Given the description of an element on the screen output the (x, y) to click on. 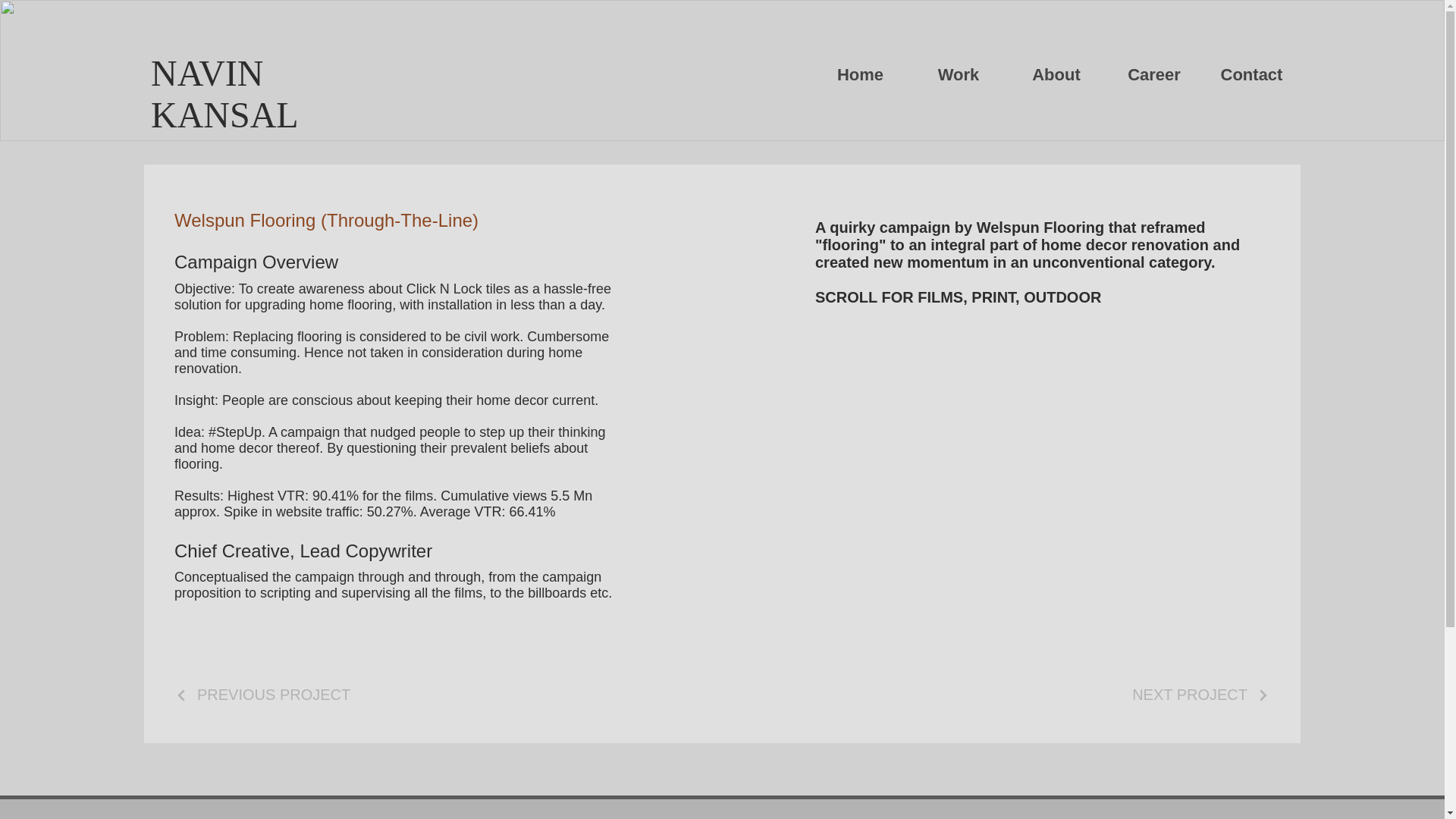
About (1056, 75)
Career (1153, 75)
NAVIN KANSAL (224, 94)
Work (957, 75)
NEXT PROJECT (1200, 694)
PREVIOUS PROJECT (262, 694)
Contact (1251, 75)
Home (859, 75)
